Given the description of an element on the screen output the (x, y) to click on. 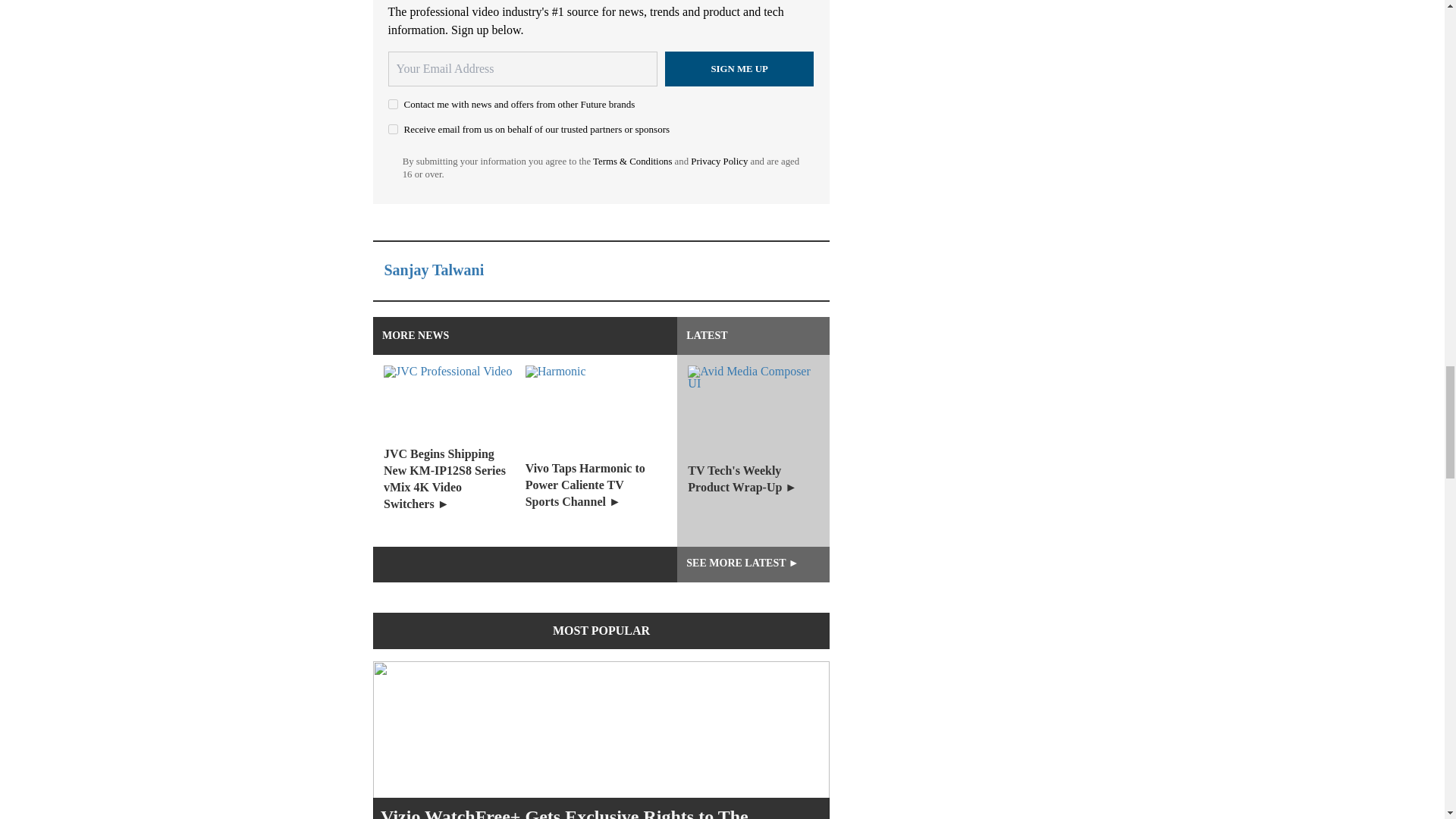
Privacy Policy (719, 161)
Sign me up (739, 68)
Sanjay Talwani (433, 269)
on (392, 129)
Sign me up (739, 68)
on (392, 103)
